Given the description of an element on the screen output the (x, y) to click on. 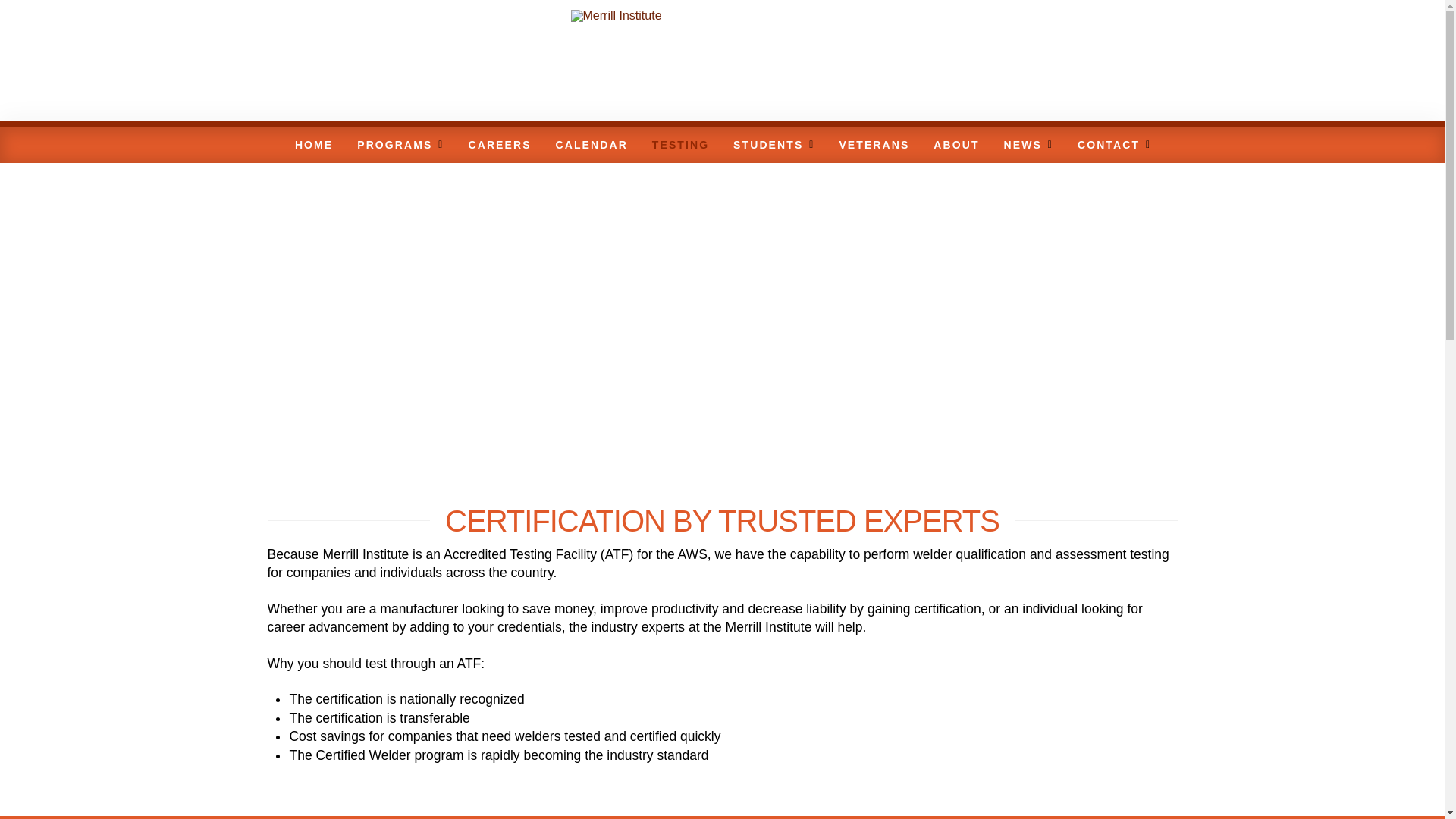
VETERANS (872, 144)
CALENDAR (591, 144)
CONTACT (1112, 144)
HOME (312, 144)
CAREERS (497, 144)
TESTING (679, 144)
STUDENTS (772, 144)
ABOUT (955, 144)
PROGRAMS (398, 144)
NEWS (1027, 144)
